Given the description of an element on the screen output the (x, y) to click on. 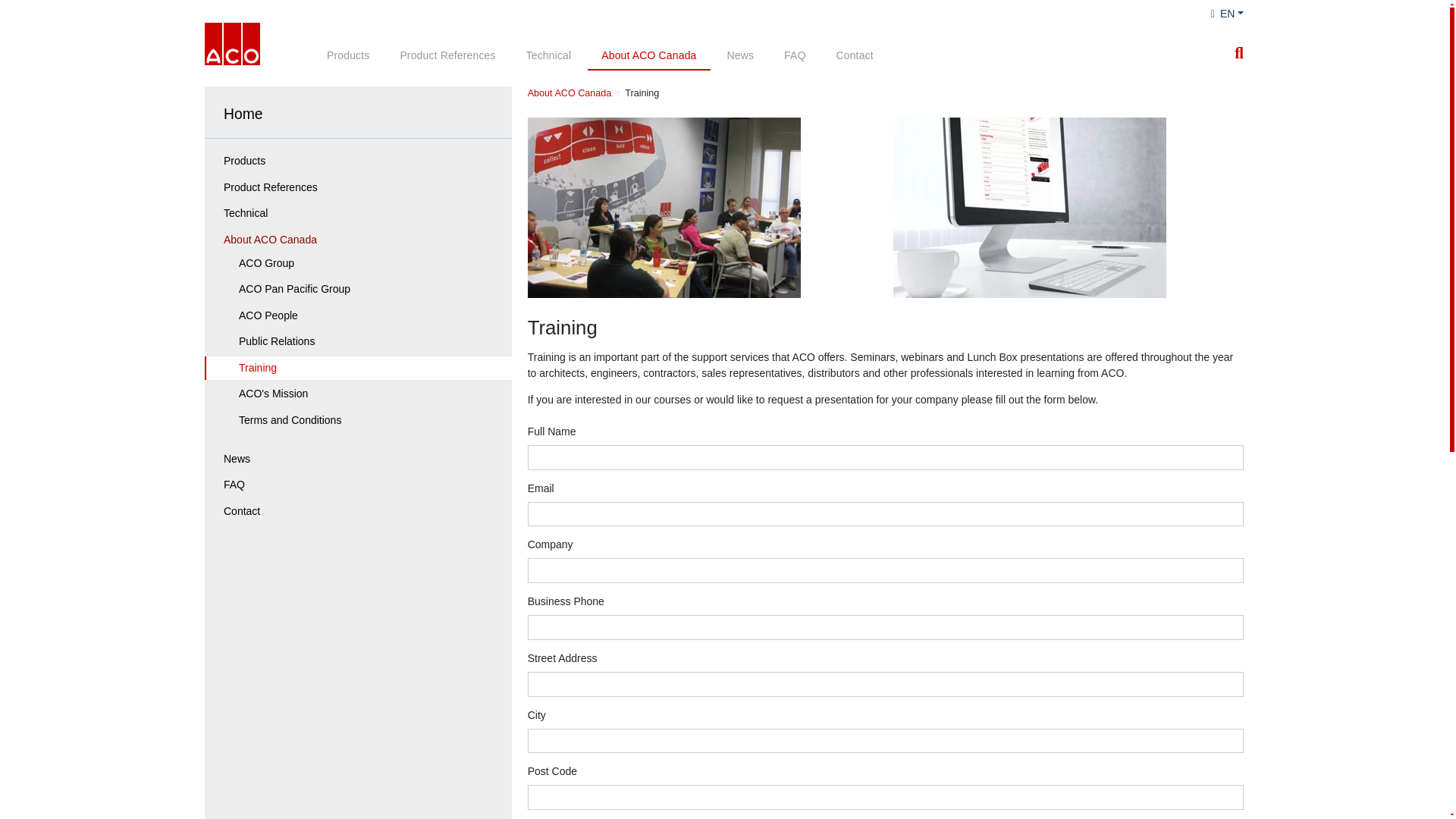
ACO Canada (232, 43)
EN (1227, 13)
Products (360, 160)
Technical (548, 55)
Products (347, 55)
News (740, 55)
en (1227, 13)
FAQ (794, 55)
About ACO Canada (649, 55)
Contact (854, 55)
